Given the description of an element on the screen output the (x, y) to click on. 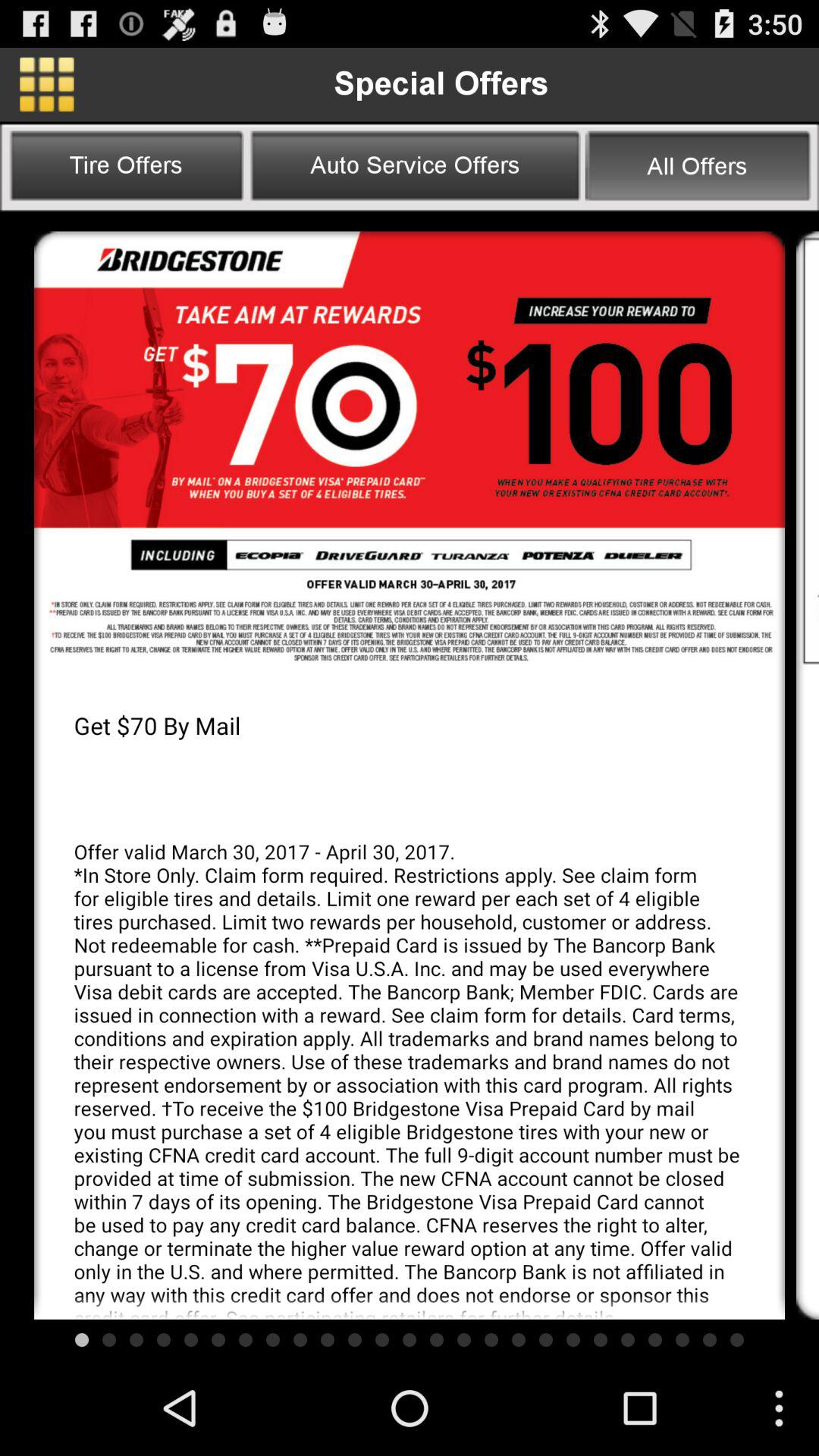
a series of squares when pressed brings one to a the main menu (46, 84)
